Given the description of an element on the screen output the (x, y) to click on. 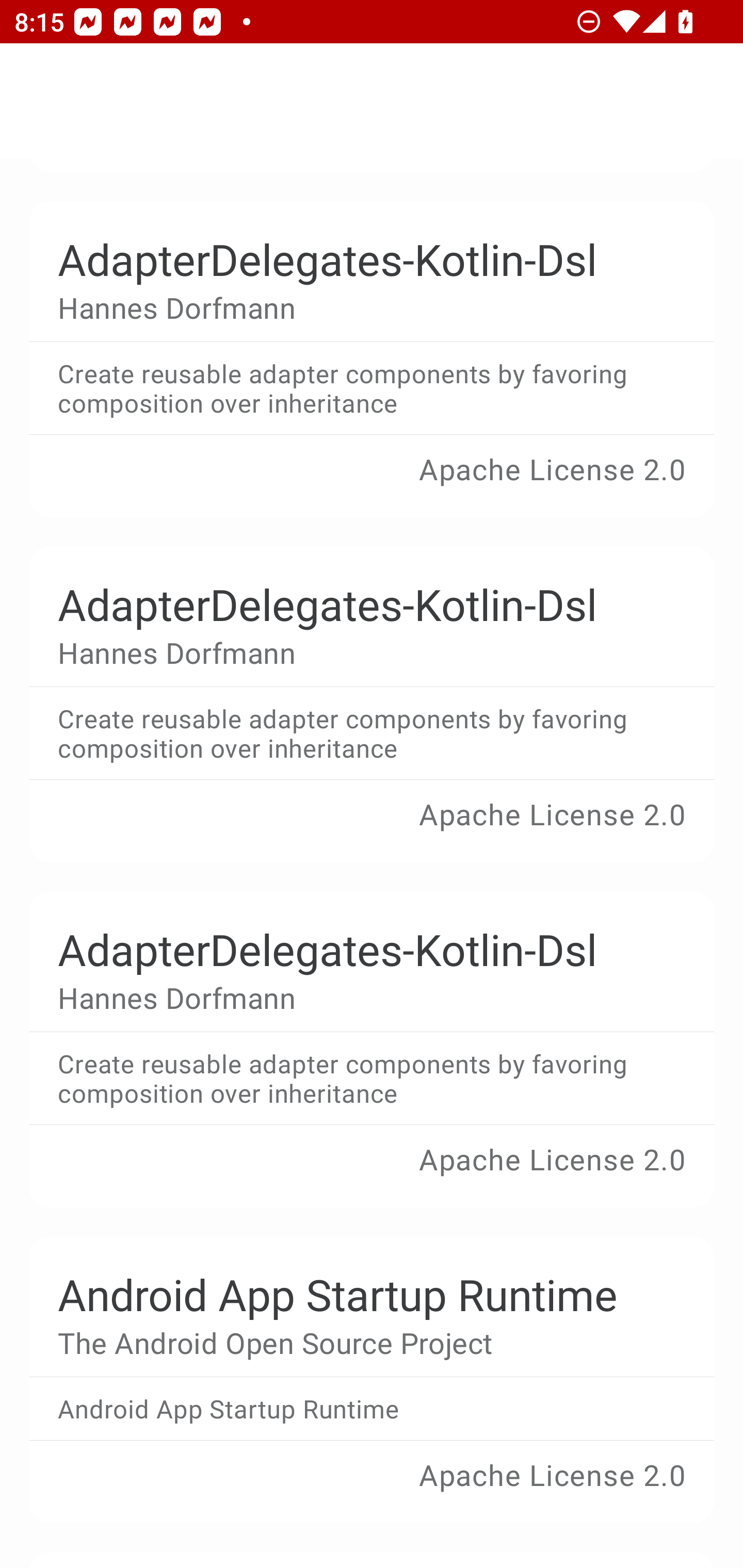
Hannes Dorfmann (356, 307)
Apache License 2.0 (371, 483)
Hannes Dorfmann (356, 652)
Apache License 2.0 (371, 828)
Hannes Dorfmann (356, 997)
Apache License 2.0 (371, 1173)
The Android Open Source Project (356, 1342)
Apache License 2.0 (371, 1488)
